Given the description of an element on the screen output the (x, y) to click on. 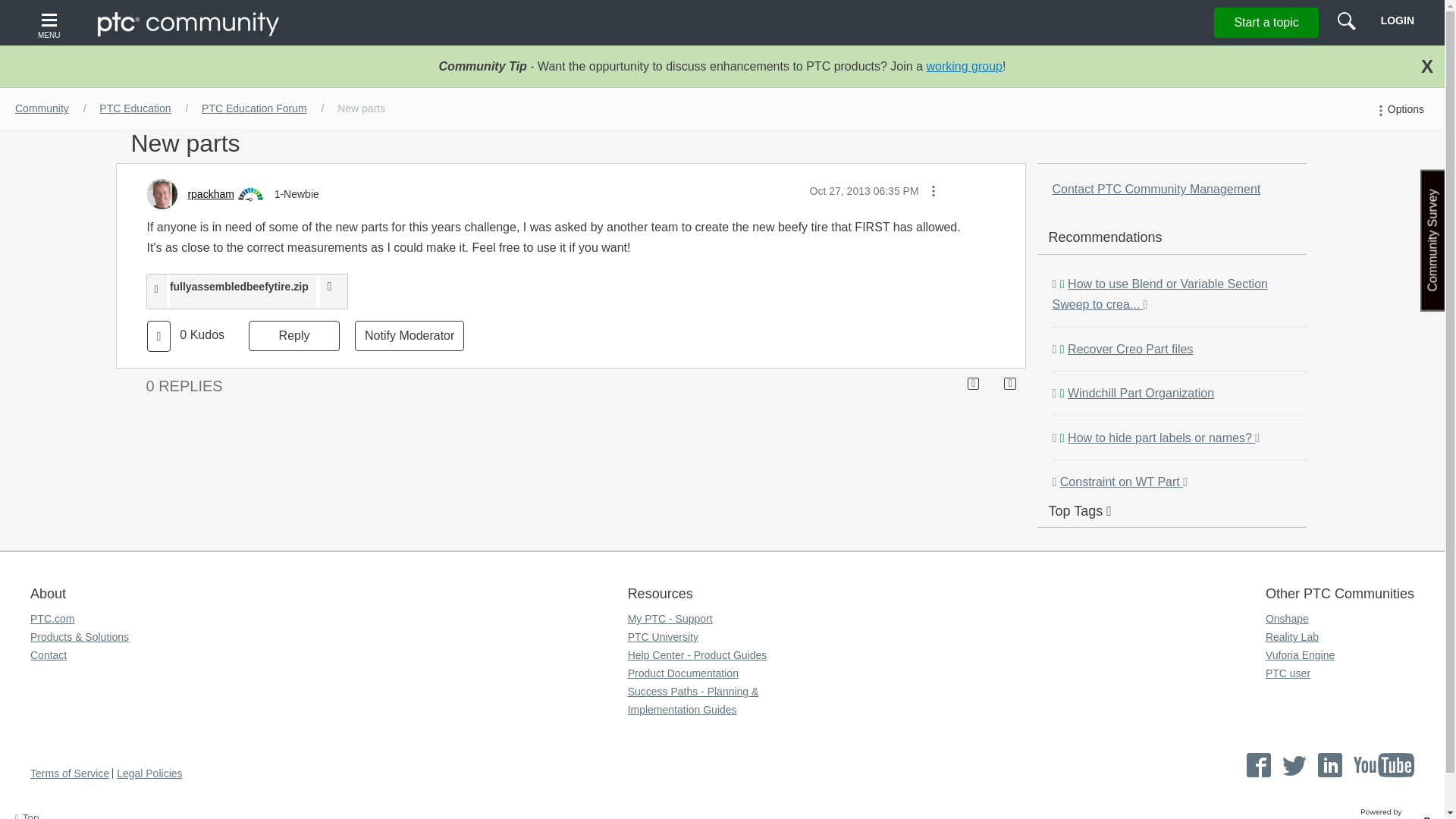
PTC Education Forum (253, 108)
LOGIN (1396, 20)
Start a topic (1265, 22)
working group (964, 65)
MENU (50, 22)
Options (1398, 109)
PTC Education (134, 108)
Community (42, 108)
